Given the description of an element on the screen output the (x, y) to click on. 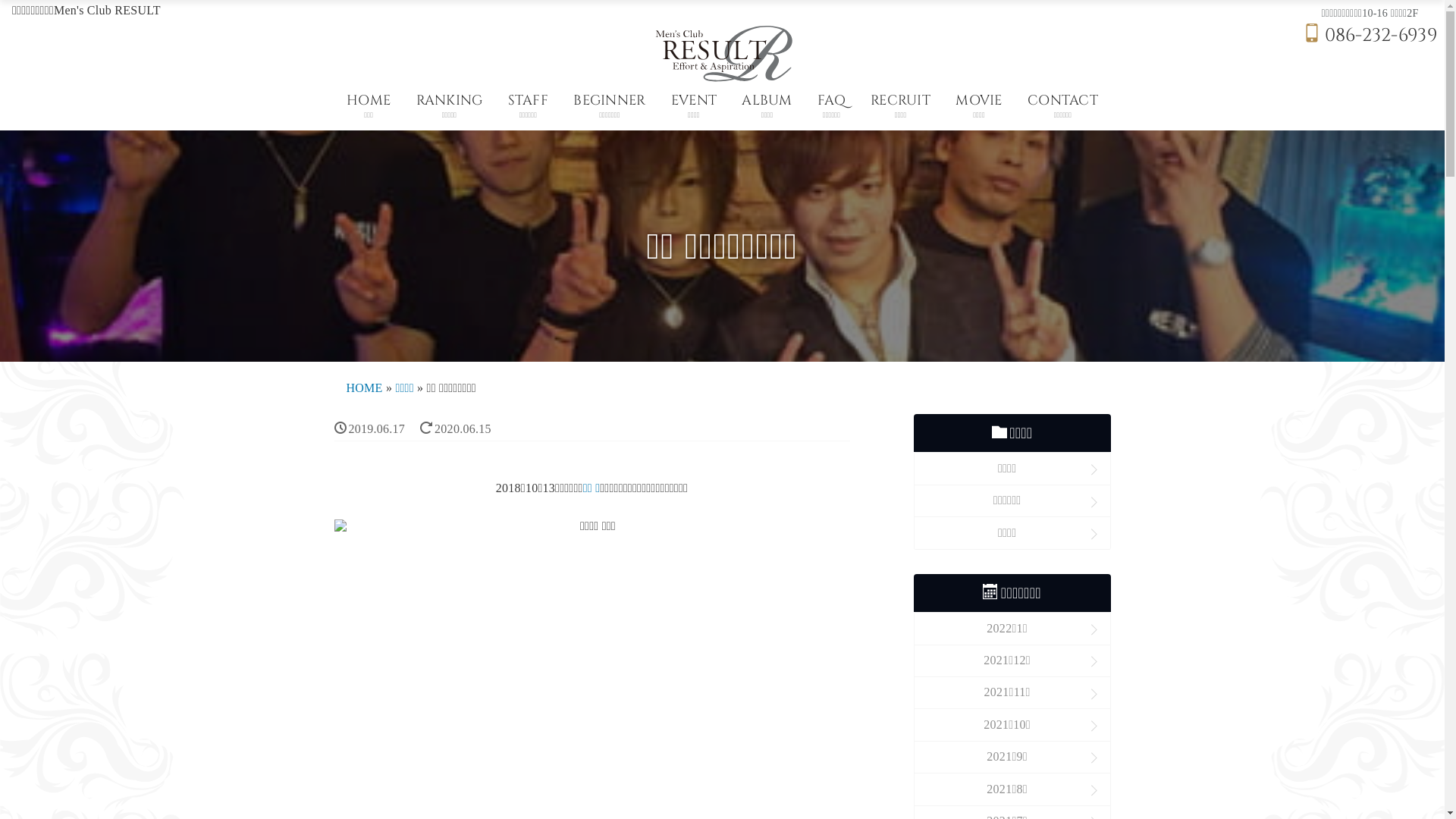
HOME Element type: text (363, 387)
